Given the description of an element on the screen output the (x, y) to click on. 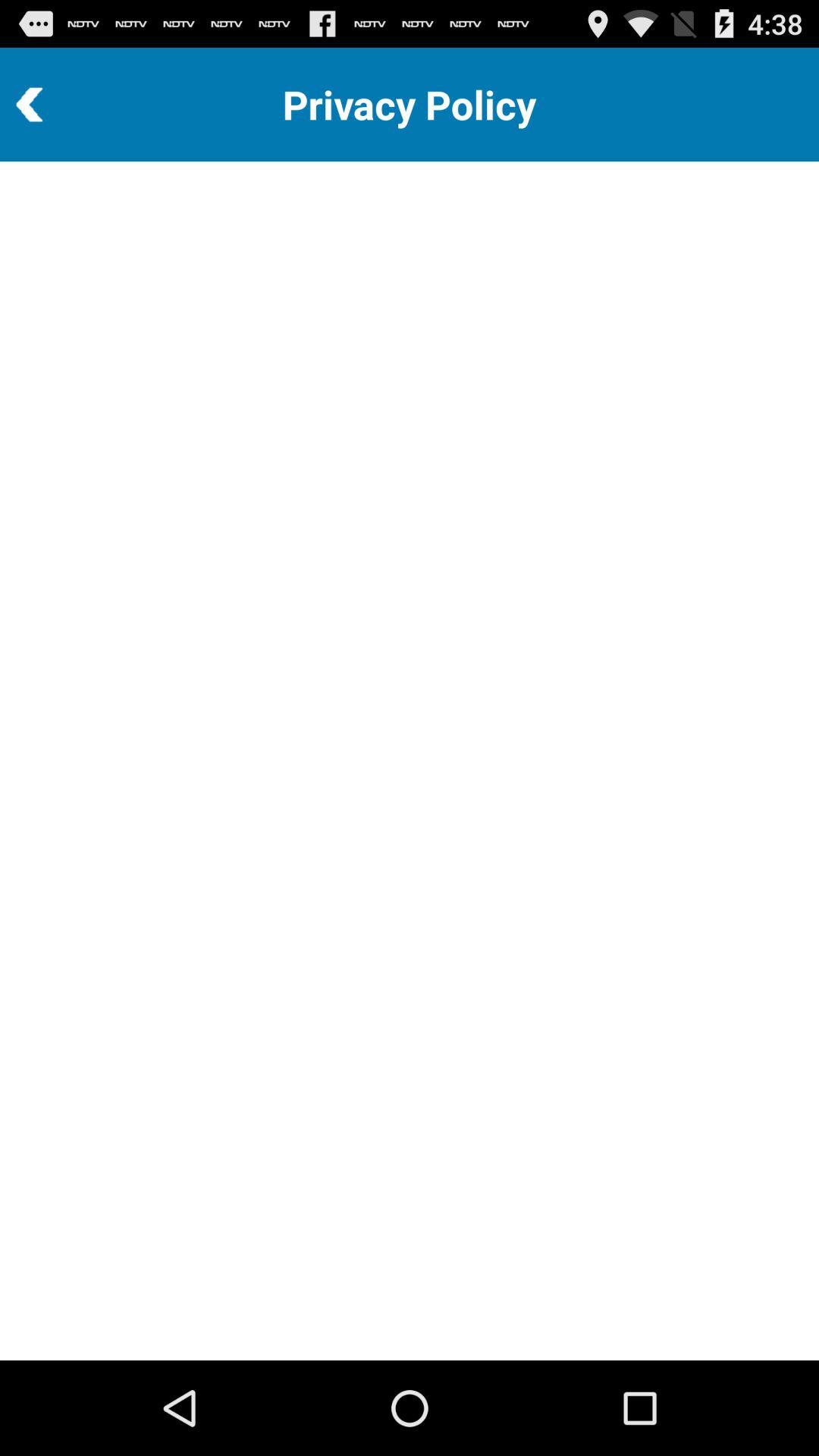
turn off button at the top left corner (70, 104)
